Given the description of an element on the screen output the (x, y) to click on. 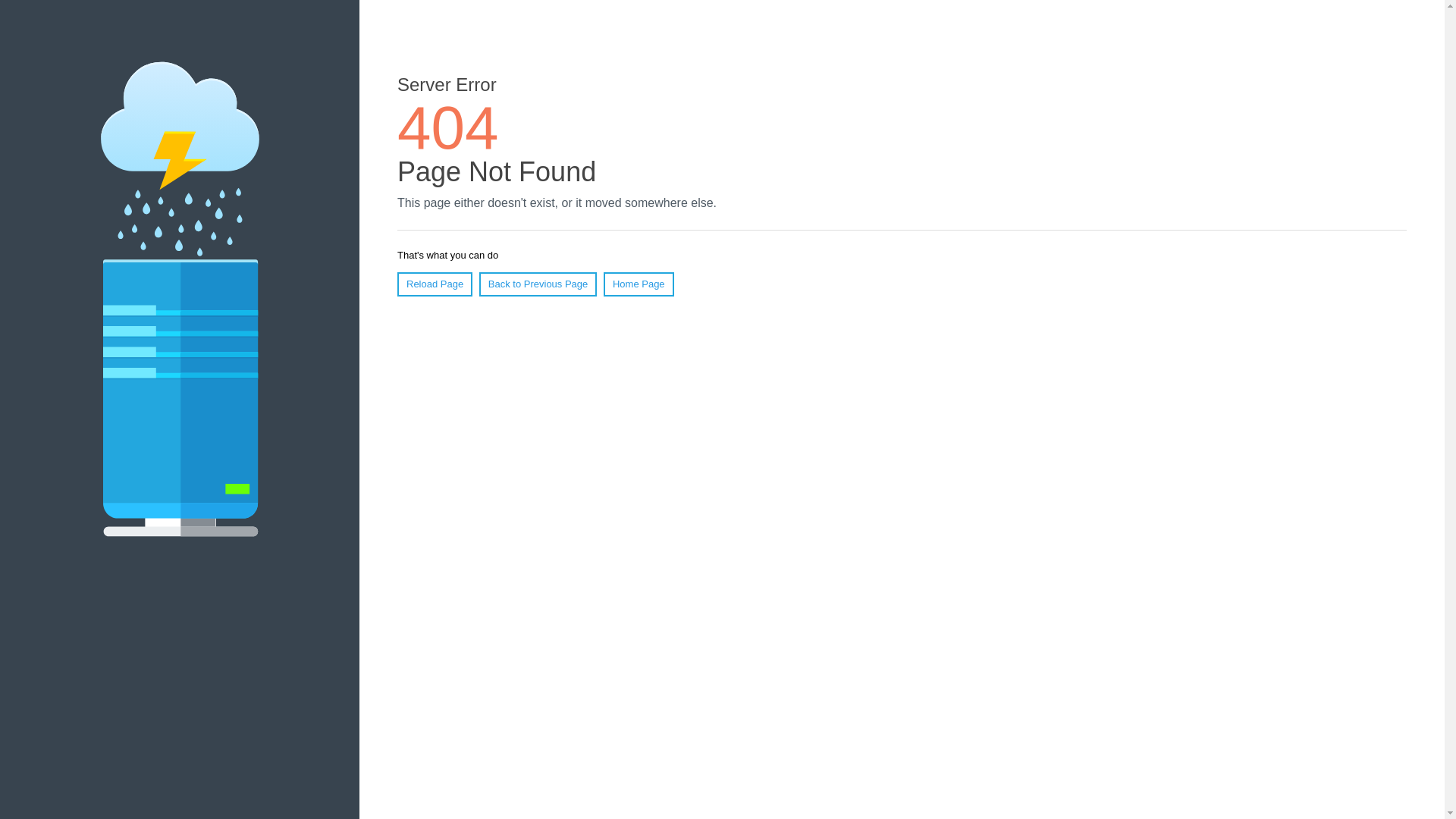
Home Page (639, 283)
Back to Previous Page (537, 283)
Reload Page (434, 283)
